Given the description of an element on the screen output the (x, y) to click on. 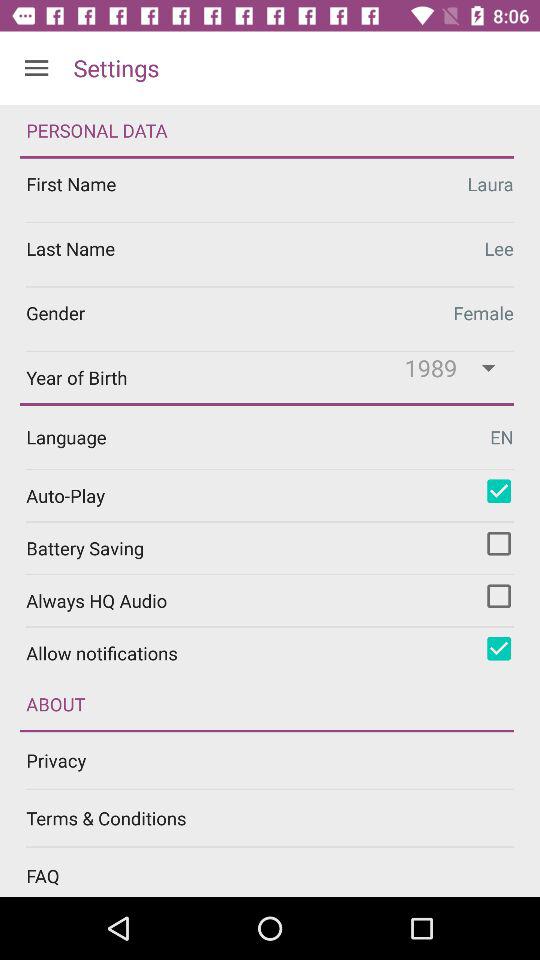
turn on battery saving (499, 543)
